Given the description of an element on the screen output the (x, y) to click on. 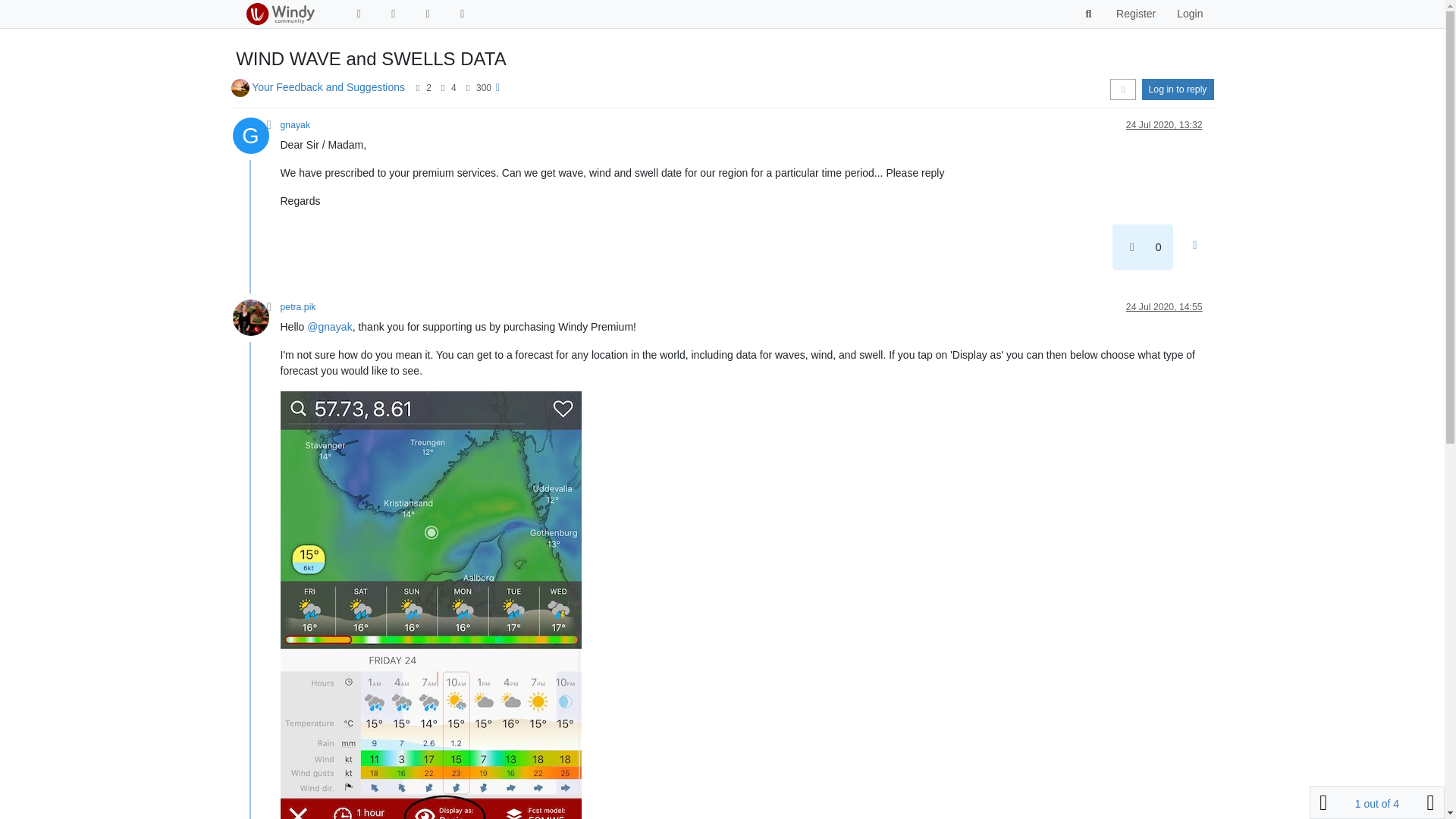
Log in to reply (1177, 88)
G (255, 139)
Register (1135, 13)
Groups (427, 13)
24 Jul 2020, 13:32 (1163, 124)
Unread (357, 13)
Categories (392, 13)
Windy Community (279, 13)
Your Feedback and Suggestions (327, 87)
Go to windy.com (462, 13)
